Given the description of an element on the screen output the (x, y) to click on. 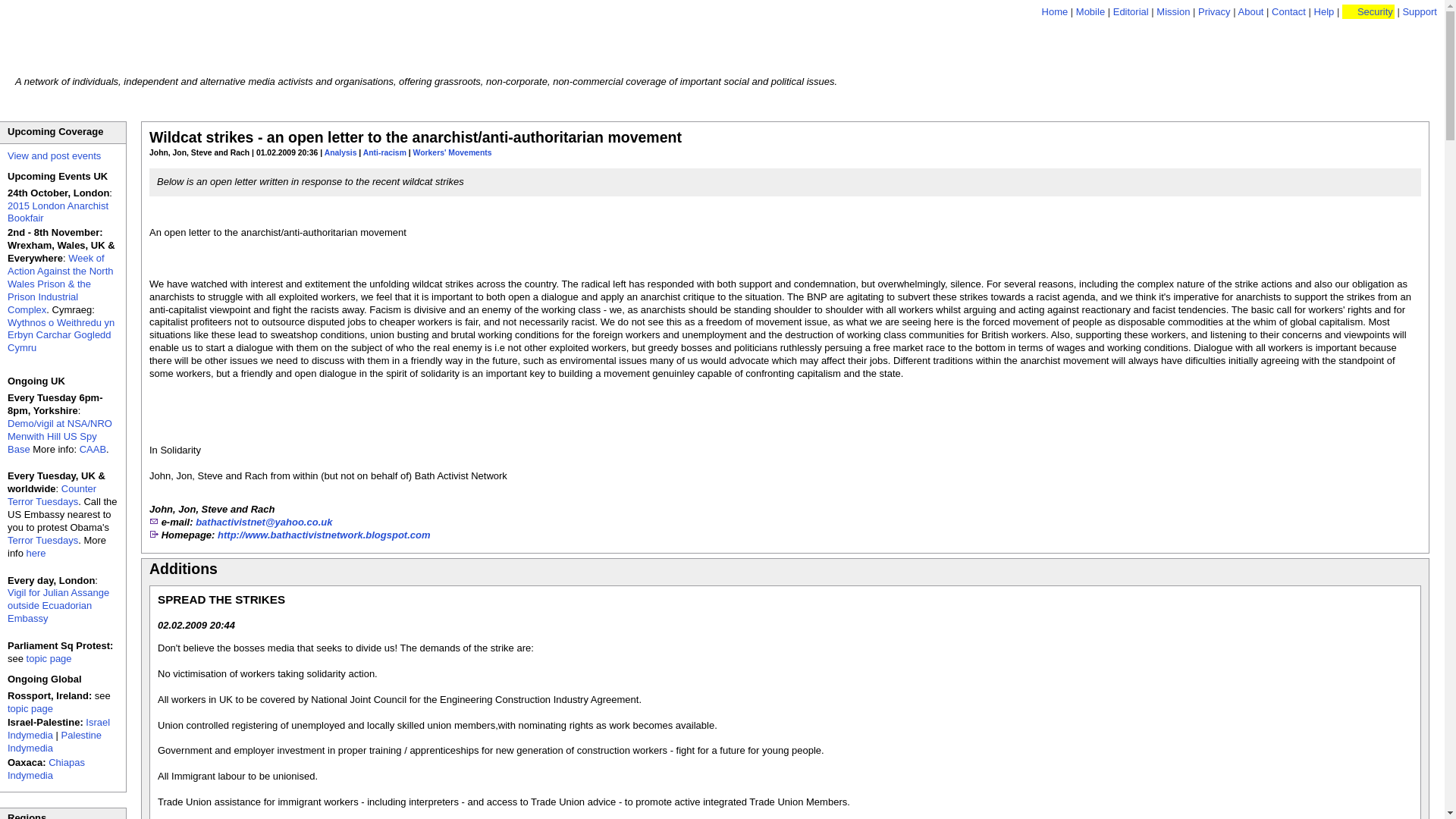
Workers' Movements (452, 152)
Contact (1288, 11)
About (1250, 11)
SPREAD THE STRIKES (221, 599)
Anti-racism (384, 152)
Analysis (340, 152)
Privacy (1214, 11)
Editorial (1130, 11)
UK Indymedia (144, 39)
Home (1055, 11)
